Given the description of an element on the screen output the (x, y) to click on. 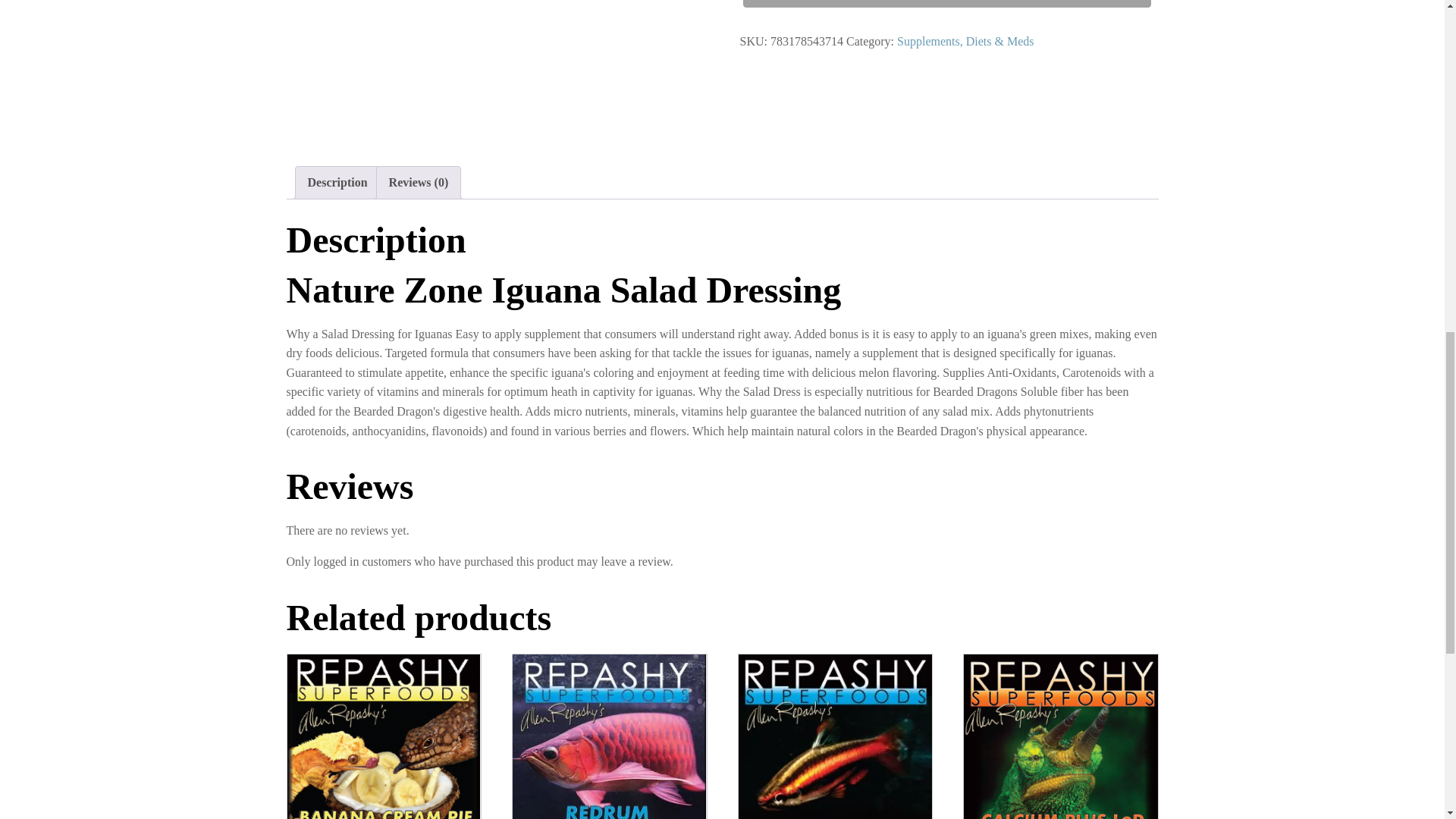
Description (337, 183)
ADD TO CART (946, 3)
